Given the description of an element on the screen output the (x, y) to click on. 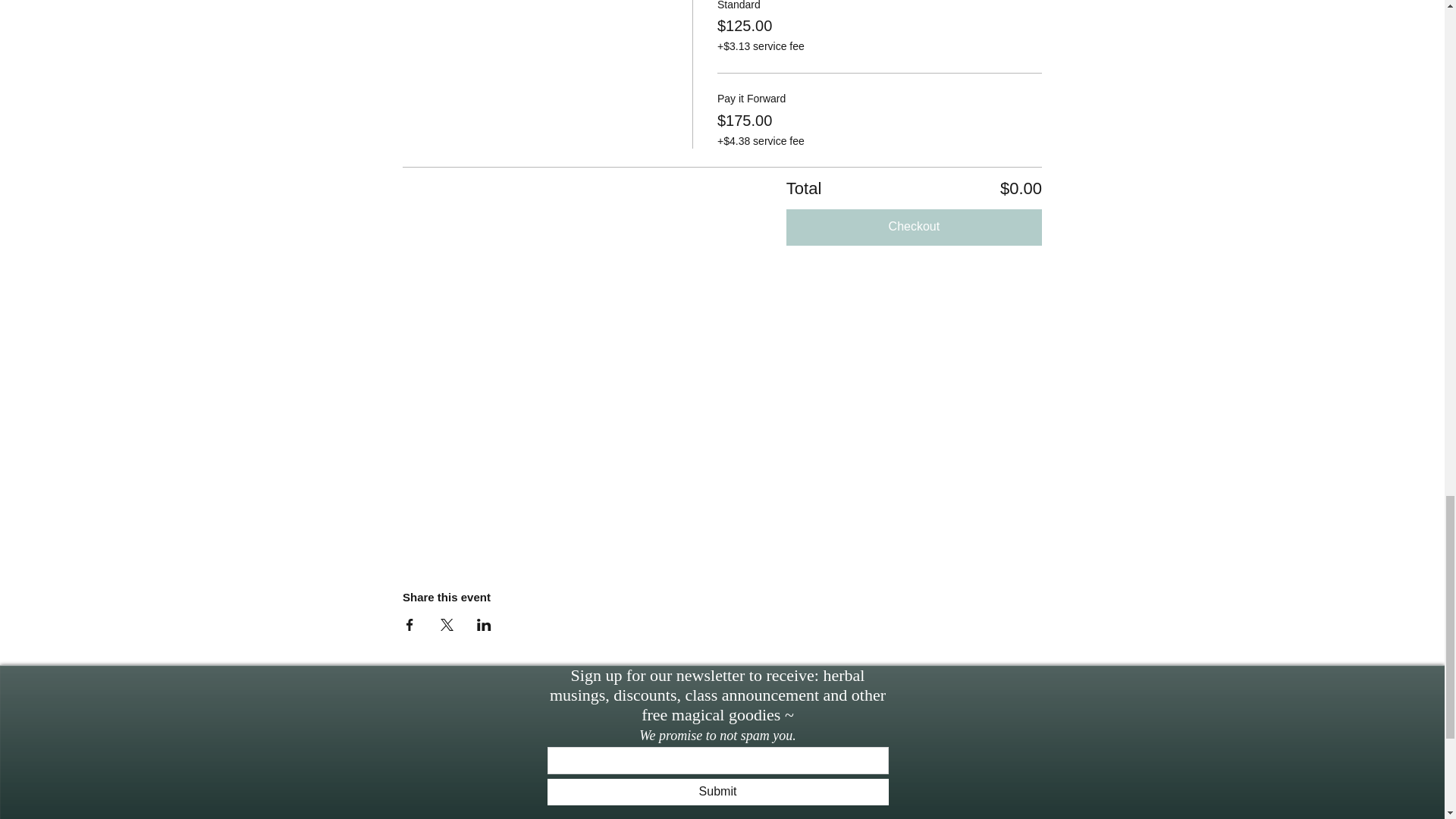
Submit (717, 791)
Checkout (914, 227)
